Given the description of an element on the screen output the (x, y) to click on. 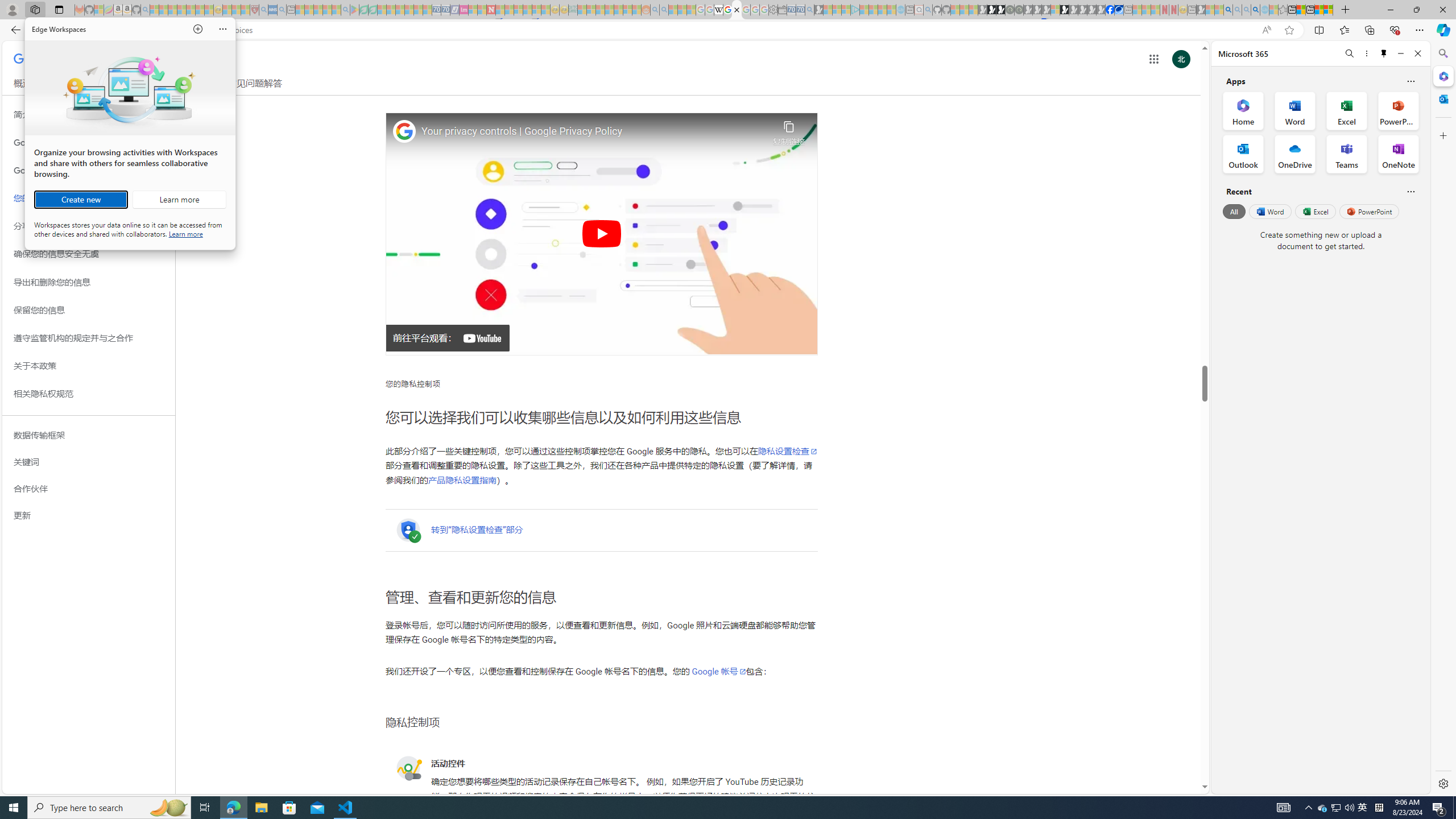
Home Office App (1243, 110)
PowerPoint (1369, 210)
